Given the description of an element on the screen output the (x, y) to click on. 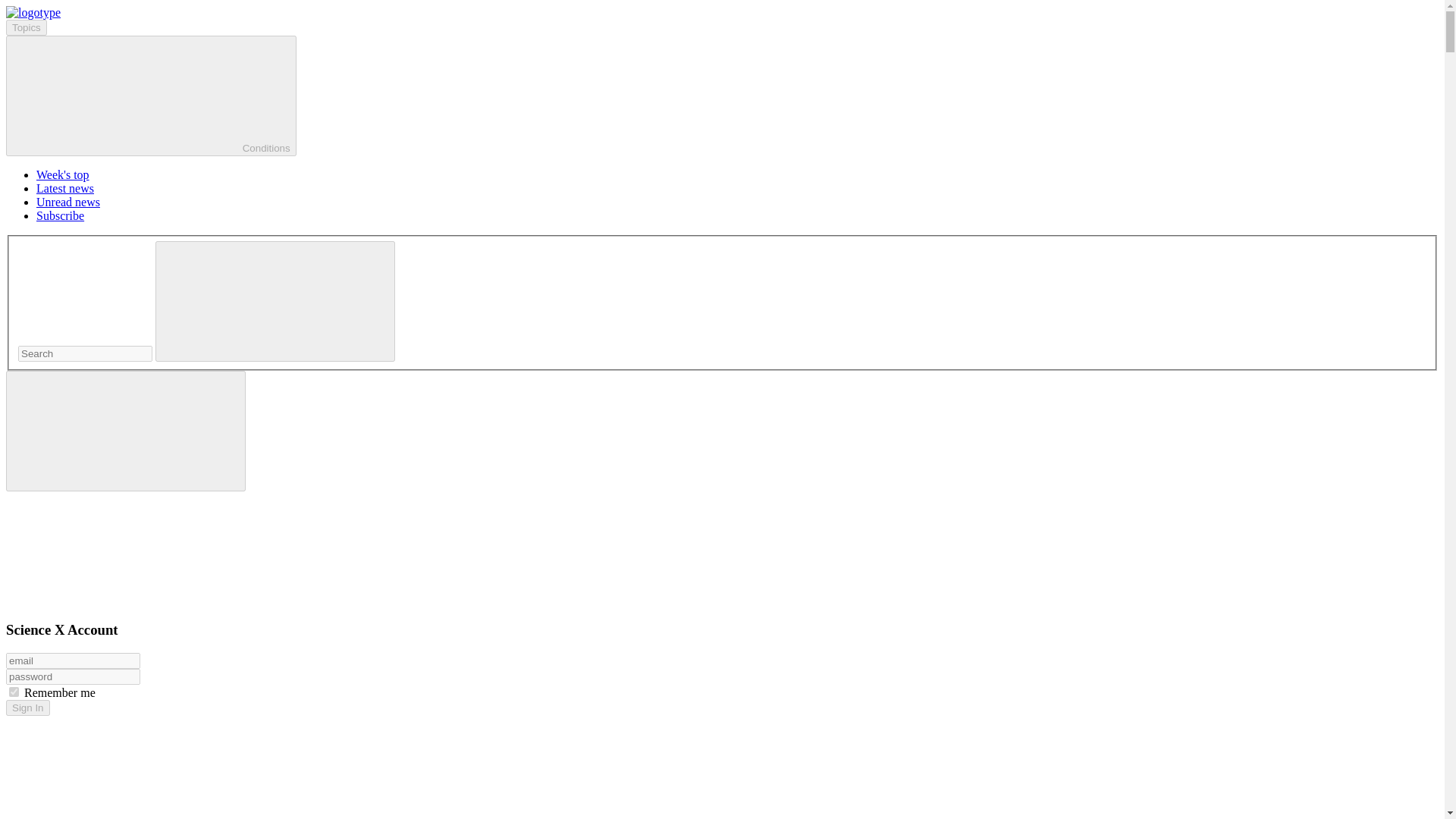
Topics (25, 27)
Subscribe (60, 215)
on (13, 691)
Week's top (62, 174)
Unread news (68, 201)
Latest news (65, 187)
Sign In (27, 707)
Conditions (151, 96)
